Given the description of an element on the screen output the (x, y) to click on. 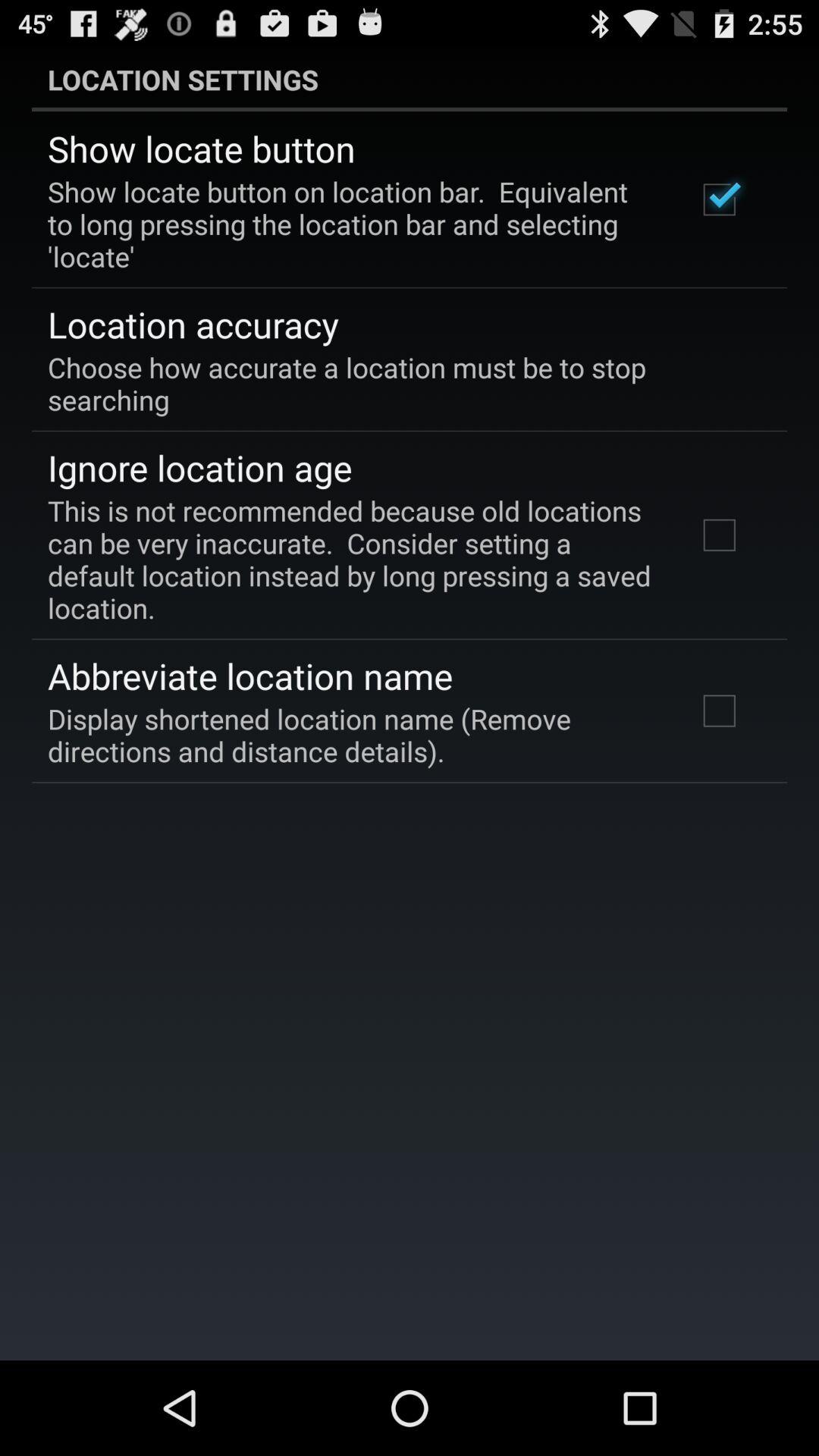
select location settings (409, 79)
